Given the description of an element on the screen output the (x, y) to click on. 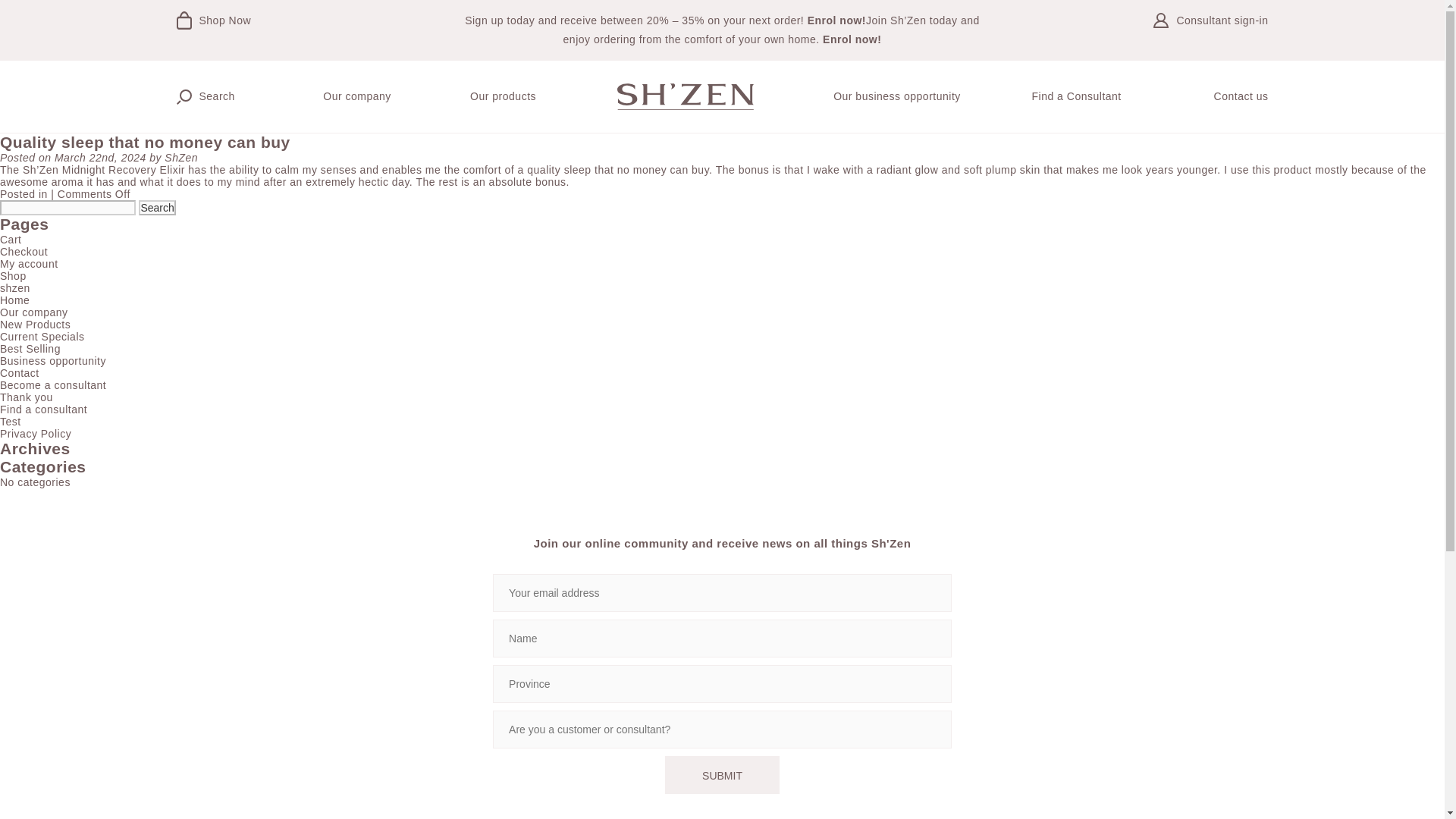
Our products (502, 96)
Consultant sign-in (1169, 30)
Our company (357, 96)
Shop Now (274, 30)
Search (156, 207)
